Given the description of an element on the screen output the (x, y) to click on. 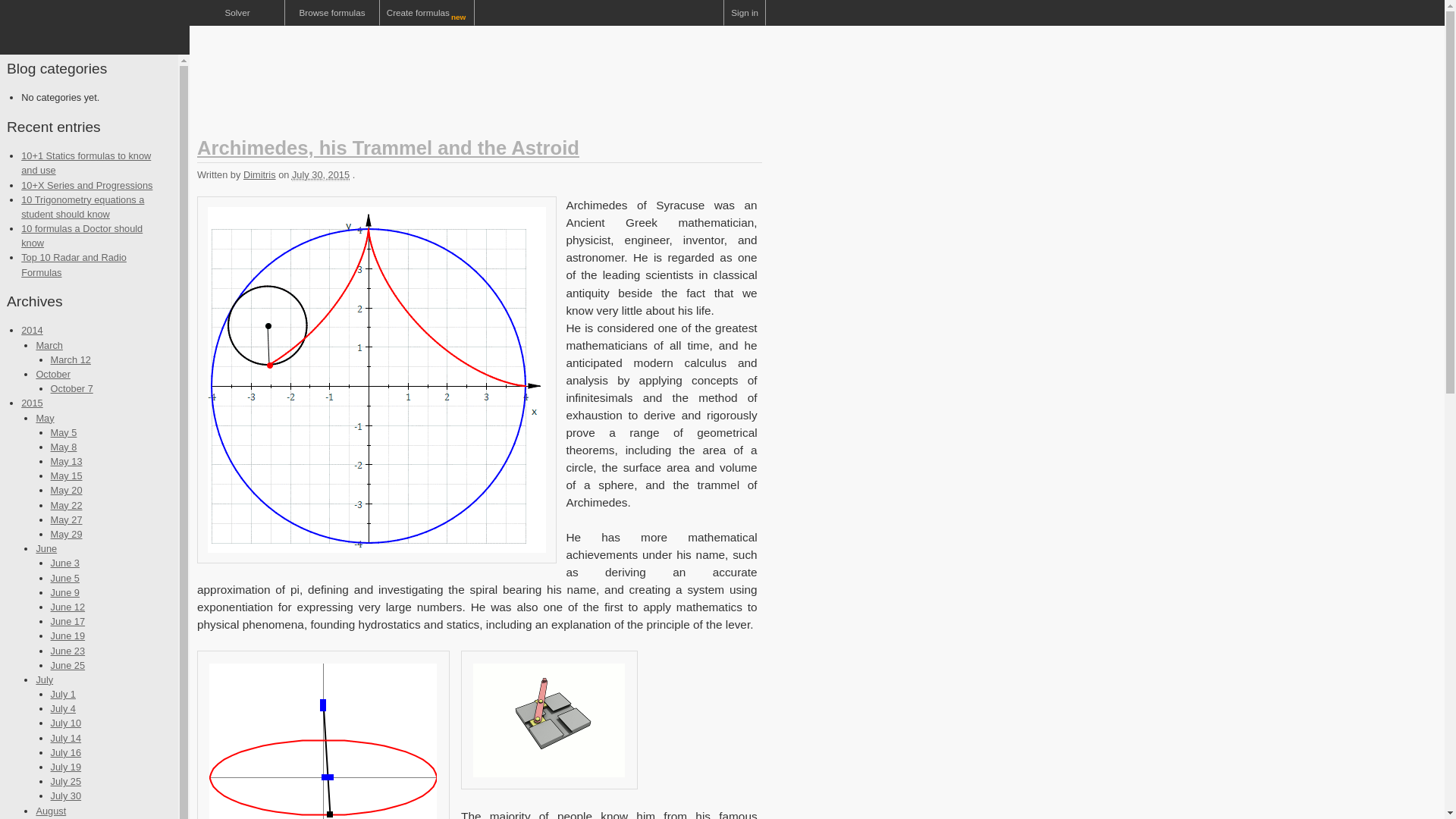
2015 (31, 402)
May 22 (66, 505)
March 12 (70, 359)
May 13 (66, 460)
Create formulasnew (427, 12)
Solver (237, 12)
May 15 (66, 475)
Sign in (744, 12)
May 29 (66, 533)
May (43, 418)
October (51, 374)
Top 10 Radar and Radio Formulas (73, 264)
10 formulas a Doctor should know (81, 235)
May 20 (66, 490)
10 Trigonometry equations a student should know (82, 207)
